Given the description of an element on the screen output the (x, y) to click on. 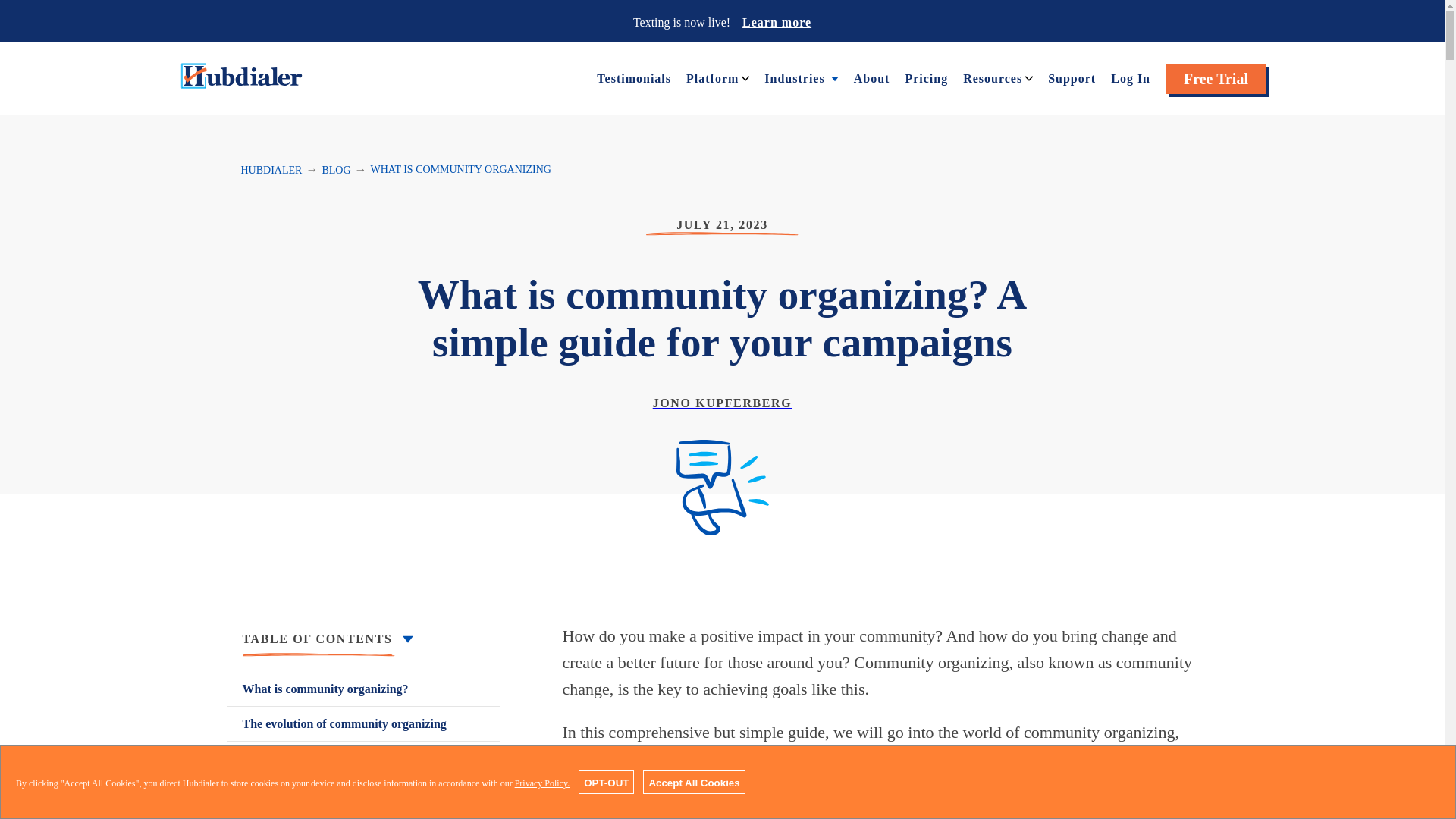
Log In (1130, 77)
Platform (711, 77)
Pricing (925, 77)
WHAT IS COMMUNITY ORGANIZING (461, 169)
Learn more (776, 21)
HUBDIALER (271, 170)
BLOG (335, 170)
Support (1072, 77)
Privacy Policy. (542, 783)
Industries (794, 77)
The evolution of community organizing (363, 723)
What is the first step in community organizing? (363, 768)
Free Trial (1216, 78)
About (871, 77)
What are the other steps in successful community organizing? (363, 807)
